Given the description of an element on the screen output the (x, y) to click on. 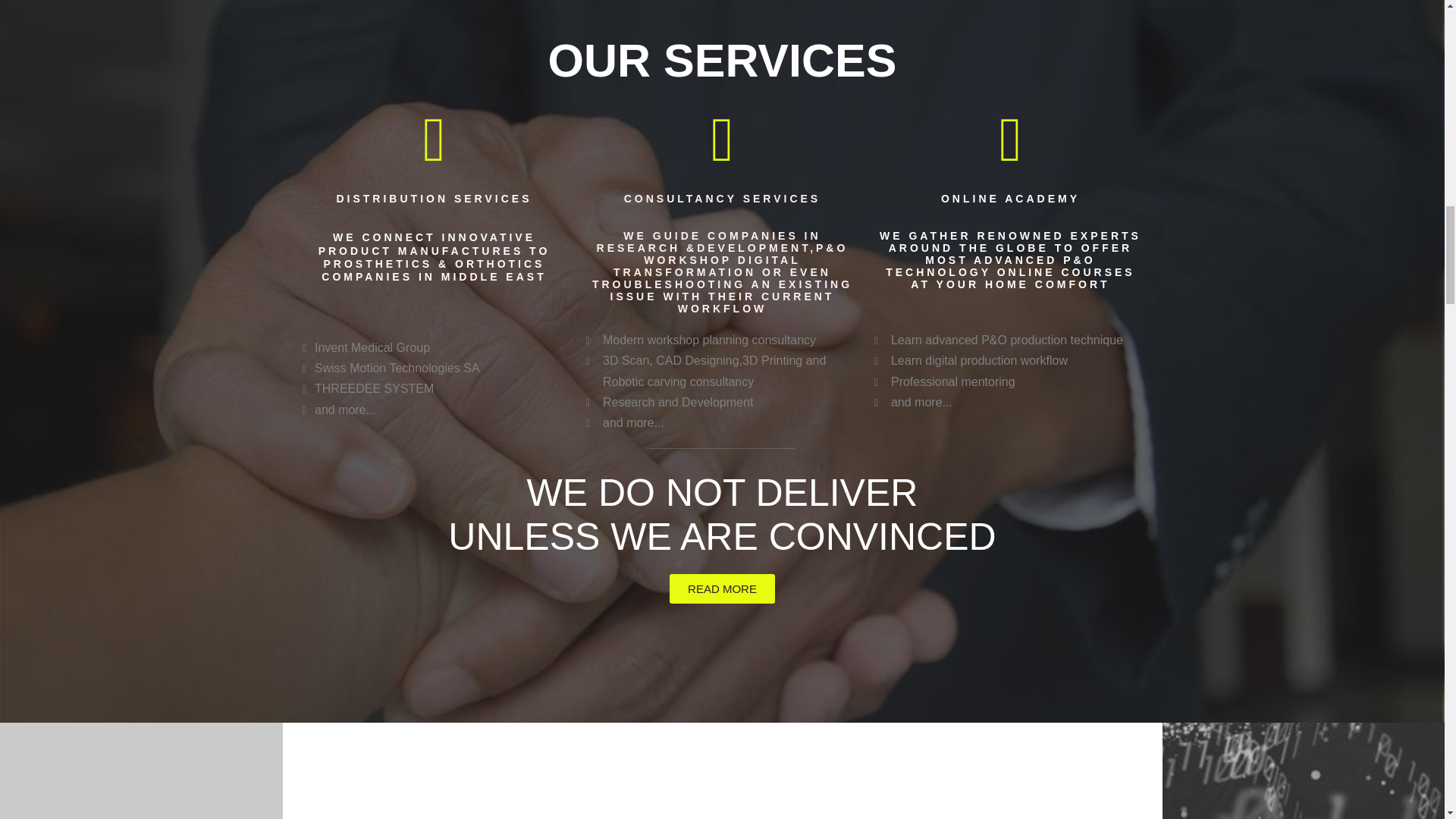
Swiss Motion Technologies SA (433, 367)
Invent Medical Group (433, 347)
and more... (722, 422)
THREEDEE SYSTEM (433, 388)
READ MORE (721, 588)
and more... (433, 409)
